Given the description of an element on the screen output the (x, y) to click on. 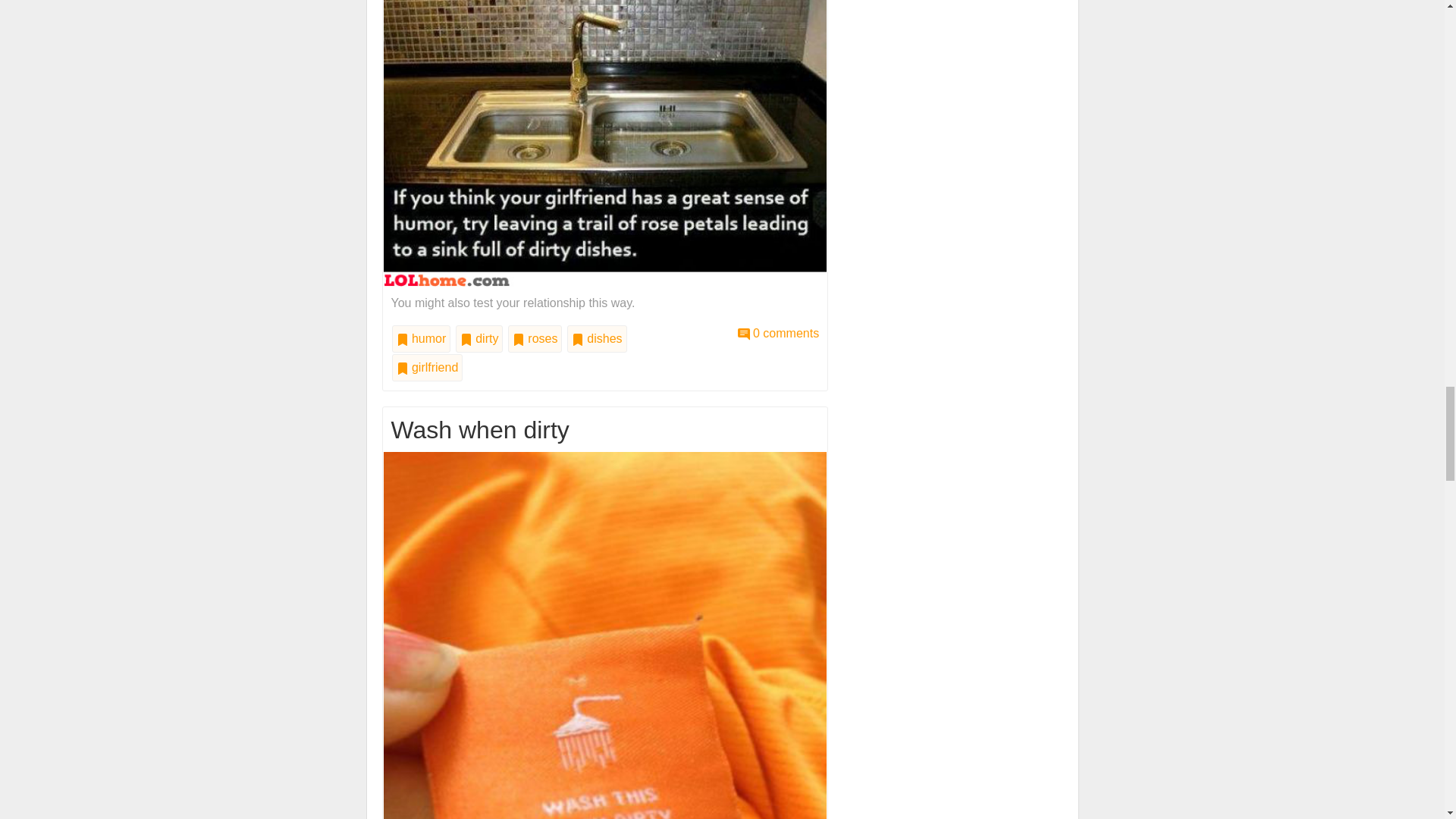
humor (420, 338)
girlfriend (427, 367)
dirty (479, 338)
roses (535, 338)
Testing girlfriend's sense of humor (605, 111)
Testing girlfriend's sense of humor (778, 332)
Wash when dirty (605, 777)
0 comments (778, 332)
dishes (597, 338)
